Given the description of an element on the screen output the (x, y) to click on. 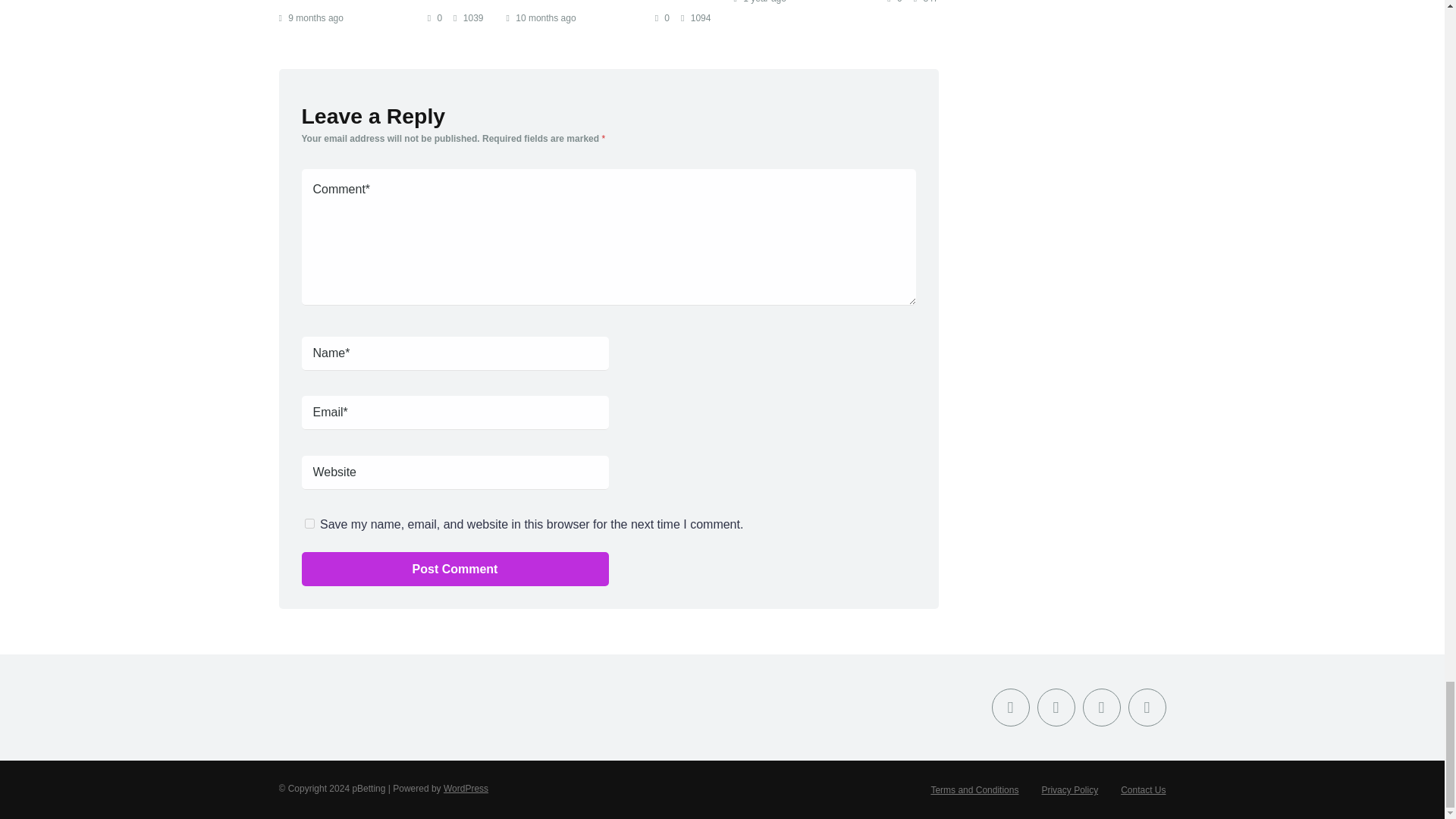
Post Comment (454, 569)
Post Comment (454, 569)
yes (309, 523)
